Given the description of an element on the screen output the (x, y) to click on. 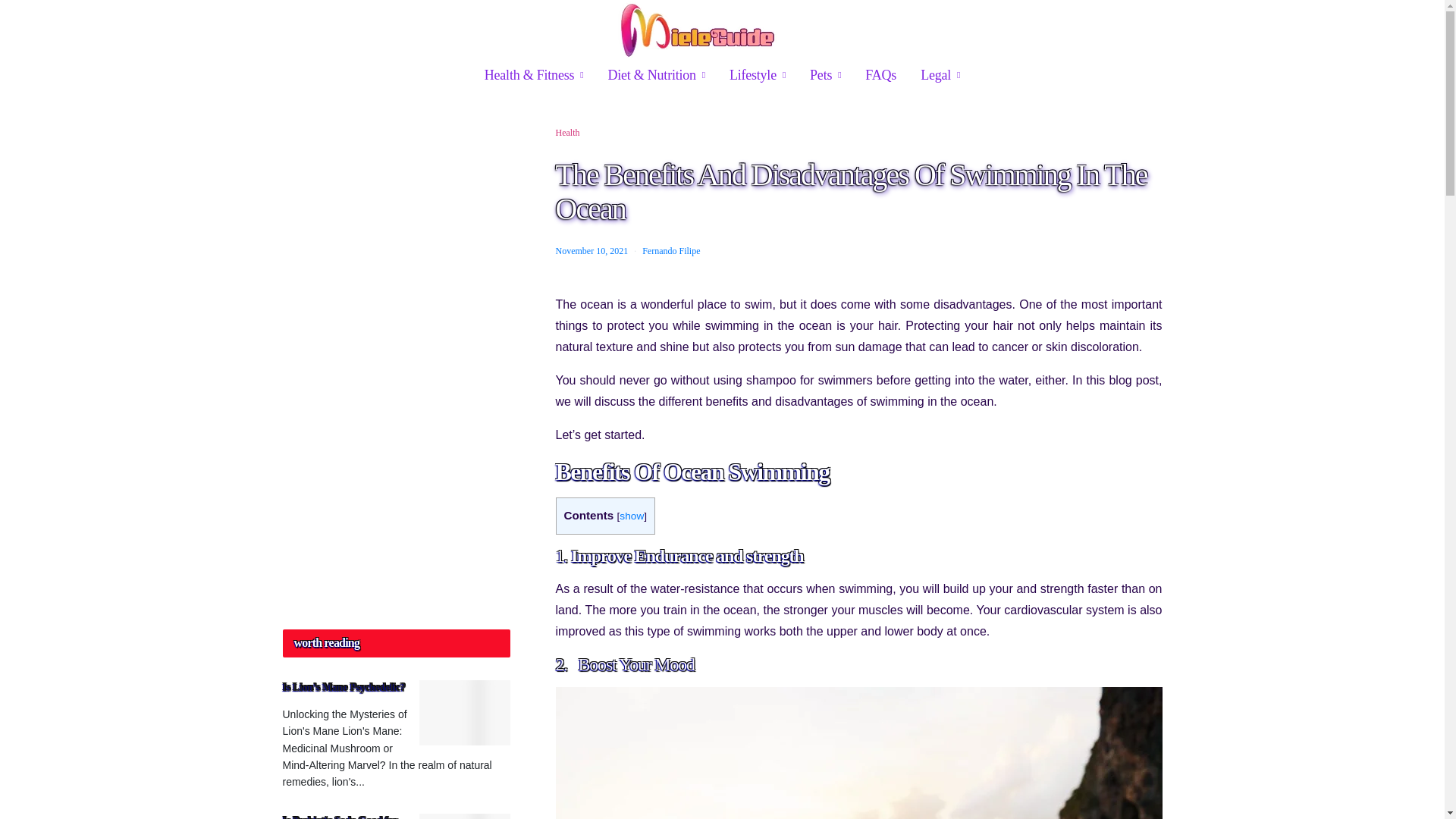
The Benefits And Disadvantages Of Swimming In The Ocean 1 (857, 753)
View all posts by Fernando Filipe (671, 250)
